Given the description of an element on the screen output the (x, y) to click on. 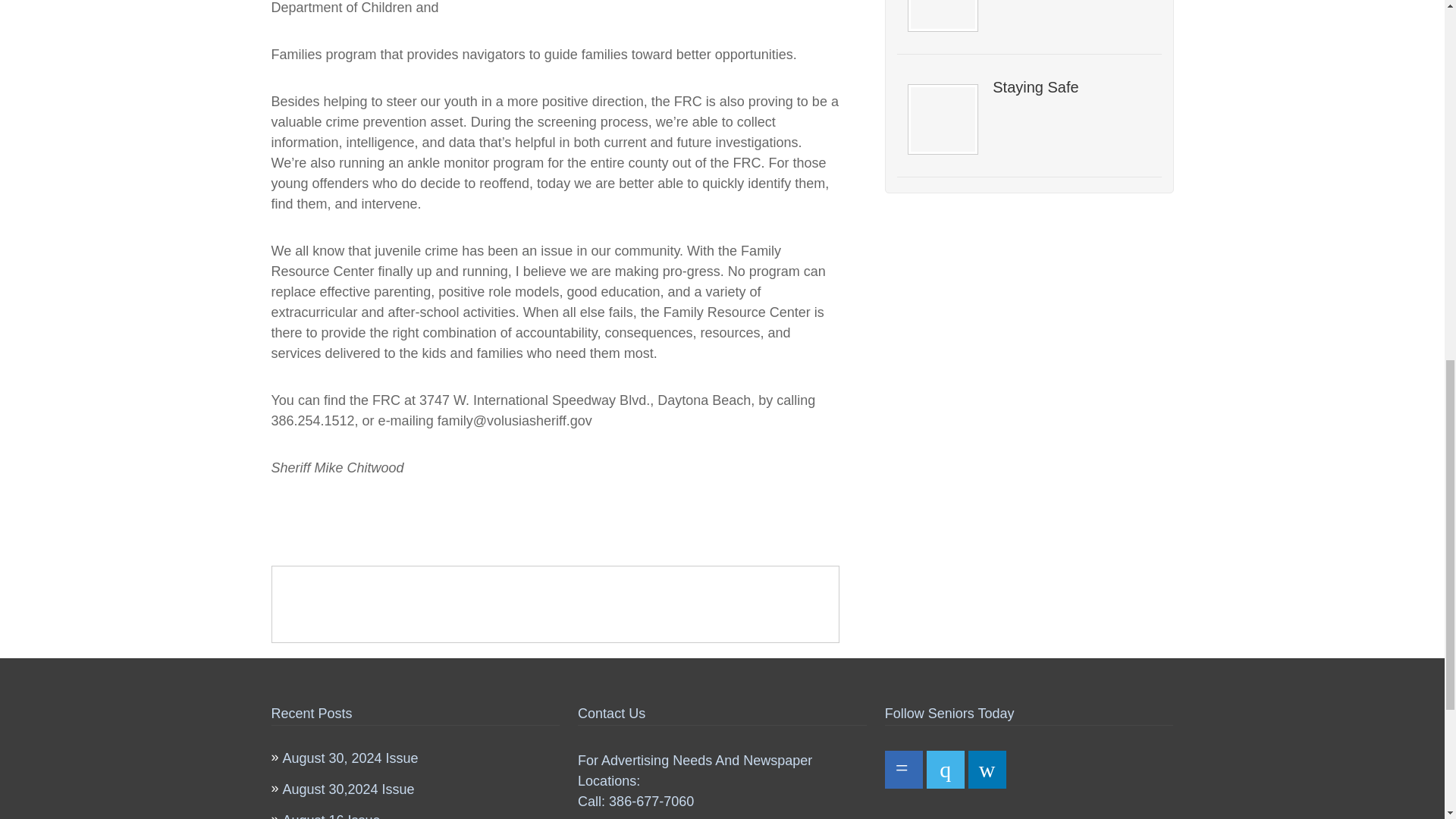
Staying Safe (1071, 86)
August 16 Issue (331, 816)
August 30, 2024 Issue (349, 758)
August 30,2024 Issue (347, 789)
